Given the description of an element on the screen output the (x, y) to click on. 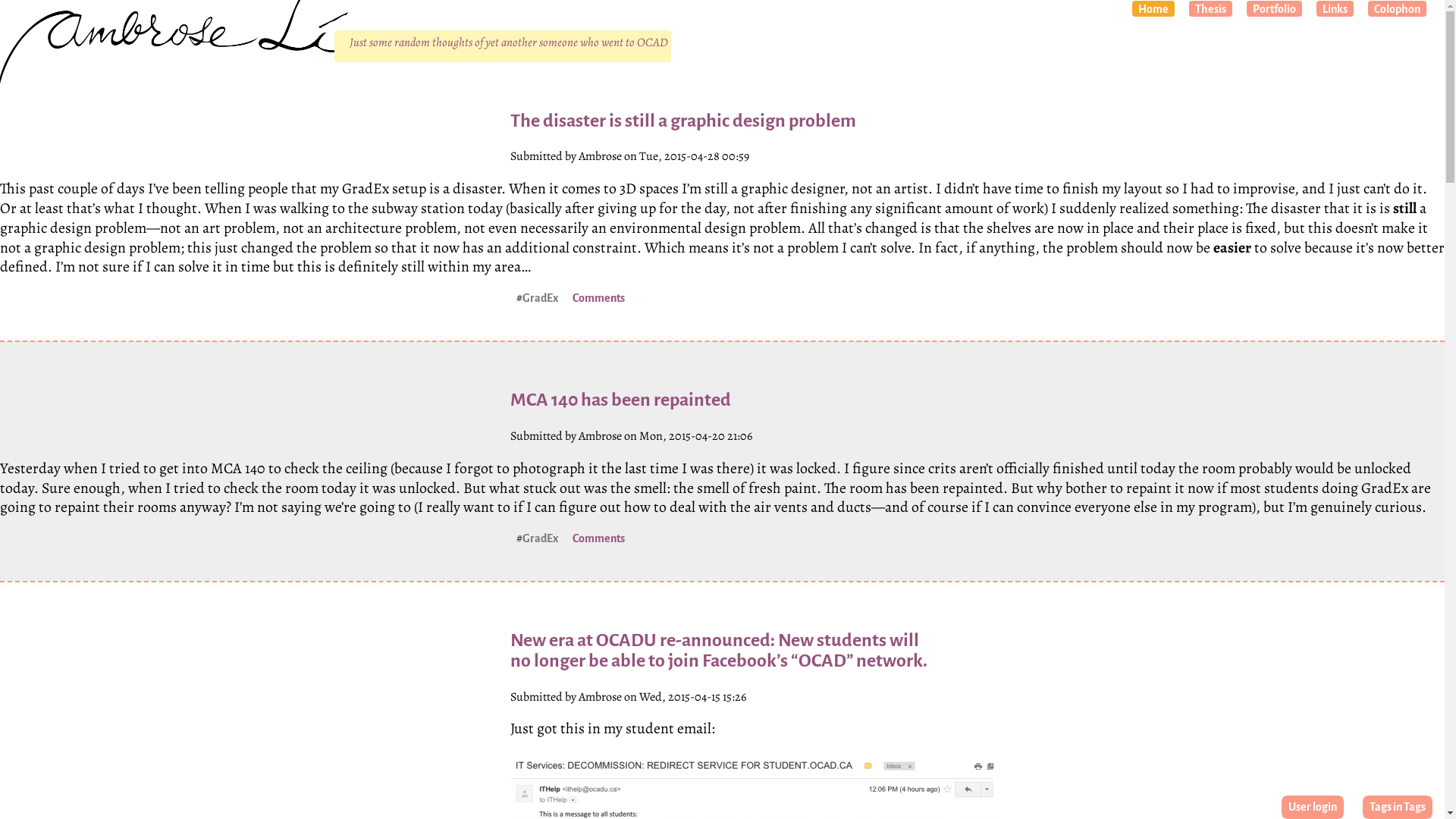
Portfolio Element type: text (1274, 8)
The disaster is still a graphic design problem Element type: text (682, 120)
MCA 140 has been repainted Element type: text (619, 399)
Home Element type: text (1153, 8)
Comments Element type: text (597, 538)
Comments Element type: text (597, 297)
Links Element type: text (1334, 8)
Tags in Tags Element type: text (1397, 806)
GradEx Element type: text (539, 297)
Thesis Element type: text (1210, 8)
Colophon Element type: text (1397, 8)
GradEx Element type: text (539, 538)
User login Element type: text (1312, 806)
Home Element type: hover (209, 23)
